Given the description of an element on the screen output the (x, y) to click on. 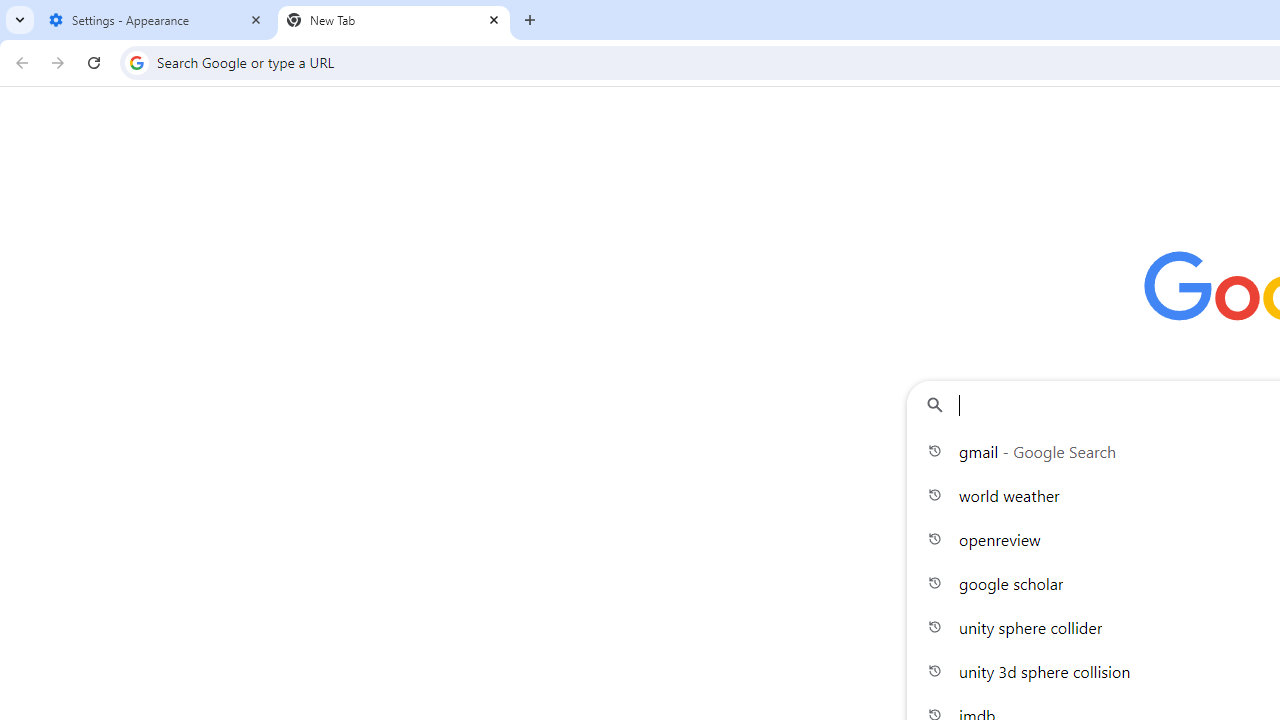
More actions for Sign in shortcut (1208, 464)
Settings - Appearance (156, 20)
New Tab (394, 20)
